Given the description of an element on the screen output the (x, y) to click on. 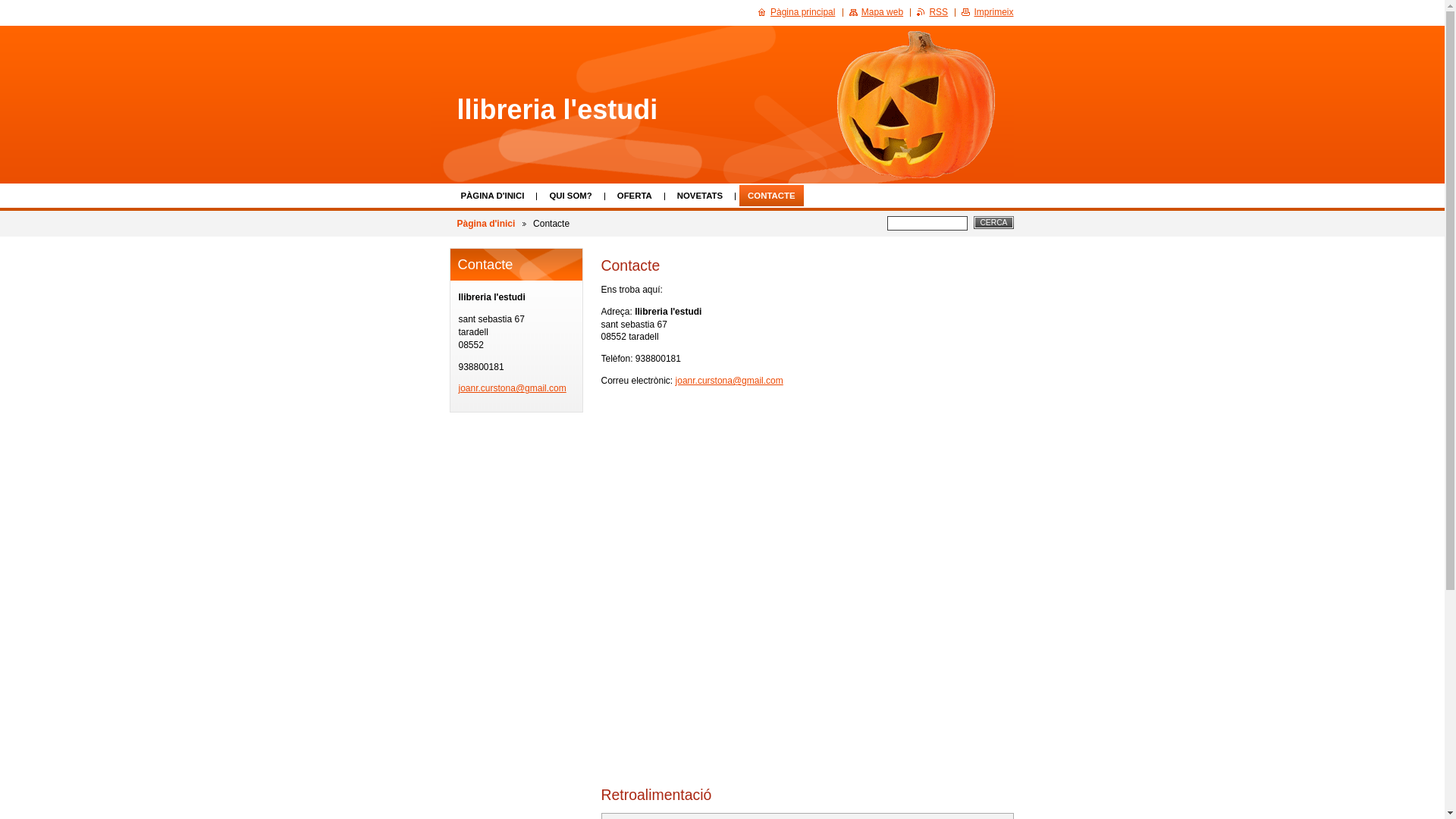
joanr.curstona@gmail.com Element type: text (511, 387)
CONTACTE Element type: text (771, 195)
joanr.curstona@gmail.com Element type: text (729, 380)
QUI SOM? Element type: text (569, 195)
Mapa web Element type: text (876, 11)
NOVETATS Element type: text (699, 195)
RSS Element type: text (931, 11)
Cerca Element type: text (993, 222)
llibreria l'estudi Element type: text (556, 109)
Imprimeix Element type: text (987, 11)
OFERTA Element type: text (634, 195)
